Given the description of an element on the screen output the (x, y) to click on. 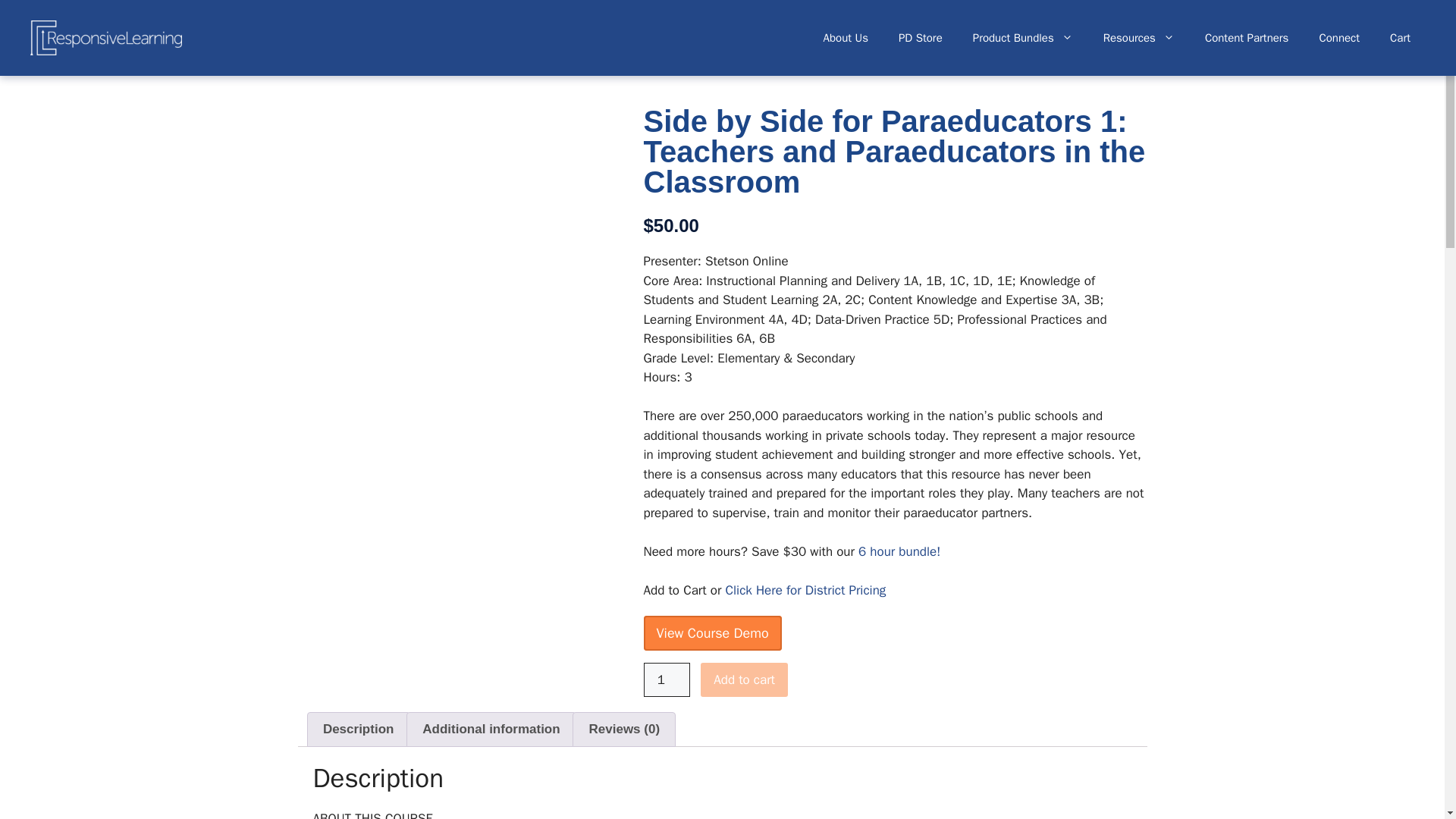
View Course Demo (711, 632)
Additional information (491, 729)
Click Here for District Pricing (805, 590)
Cart (1399, 37)
Connect (1338, 37)
Content Partners (1246, 37)
Add to cart (743, 679)
About Us (845, 37)
Description (358, 729)
6 hour bundle! (899, 550)
1 (666, 679)
PD Store (920, 37)
Product Bundles (1022, 37)
Resources (1138, 37)
